Given the description of an element on the screen output the (x, y) to click on. 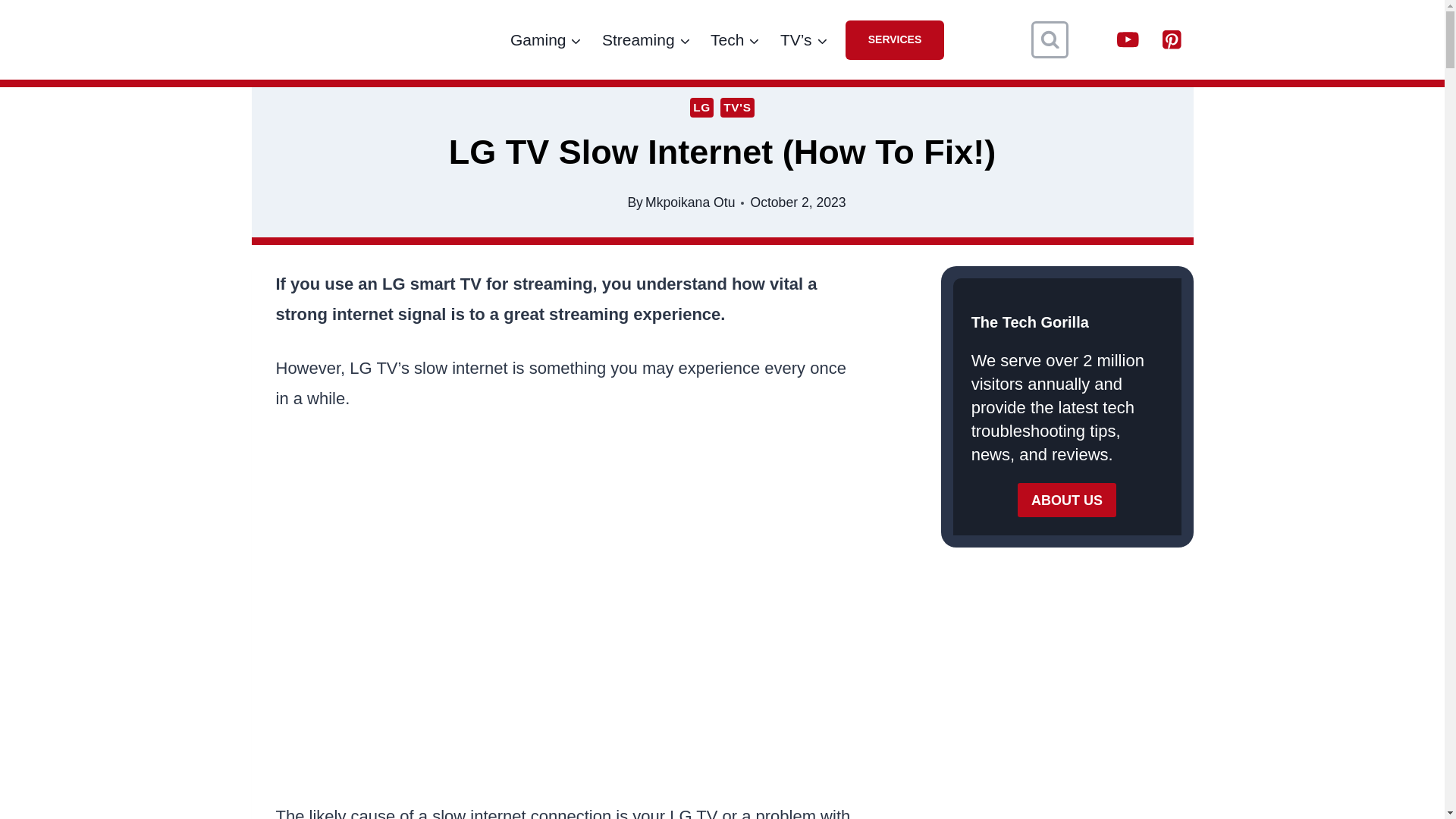
TV'S (737, 107)
Gaming (546, 39)
LG (701, 107)
SERVICES (894, 39)
Tech (735, 39)
Streaming (646, 39)
